Given the description of an element on the screen output the (x, y) to click on. 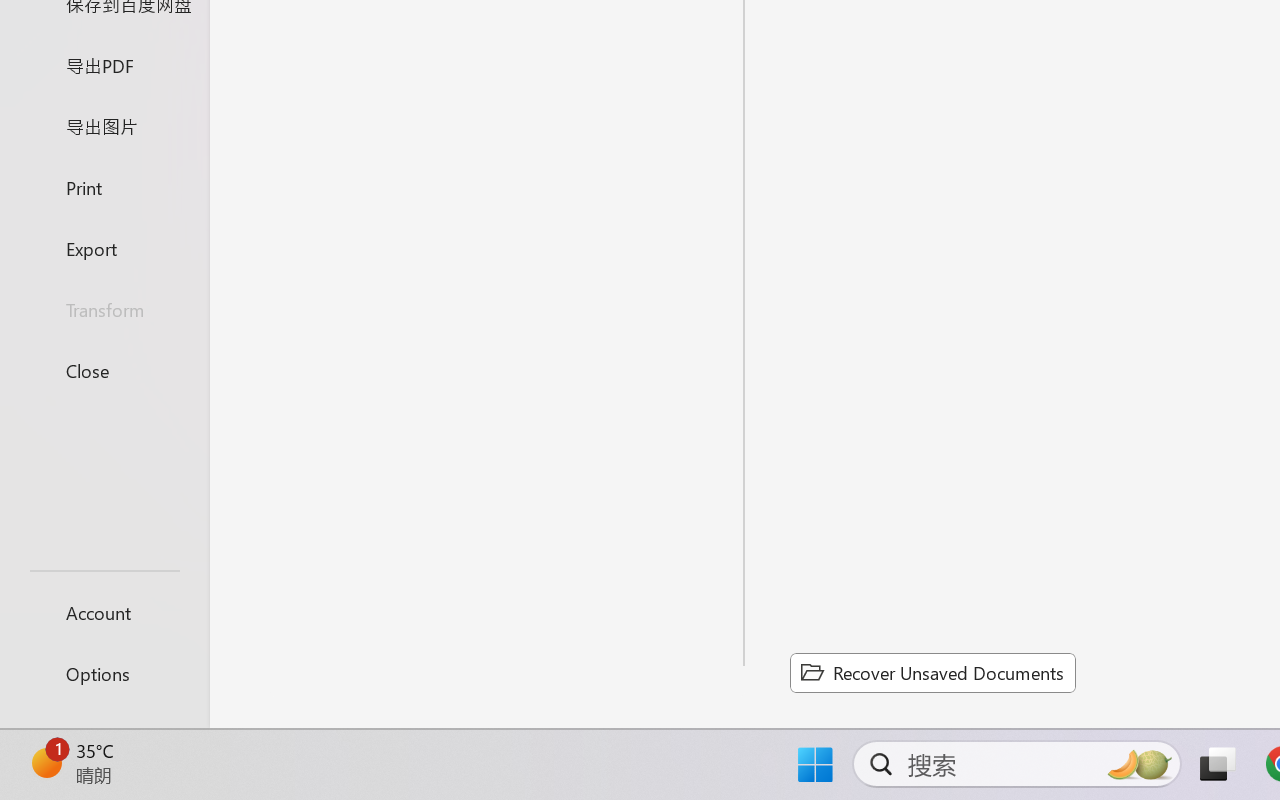
Recover Unsaved Documents (932, 672)
Export (104, 248)
Options (104, 673)
Print (104, 186)
Account (104, 612)
Transform (104, 309)
